Given the description of an element on the screen output the (x, y) to click on. 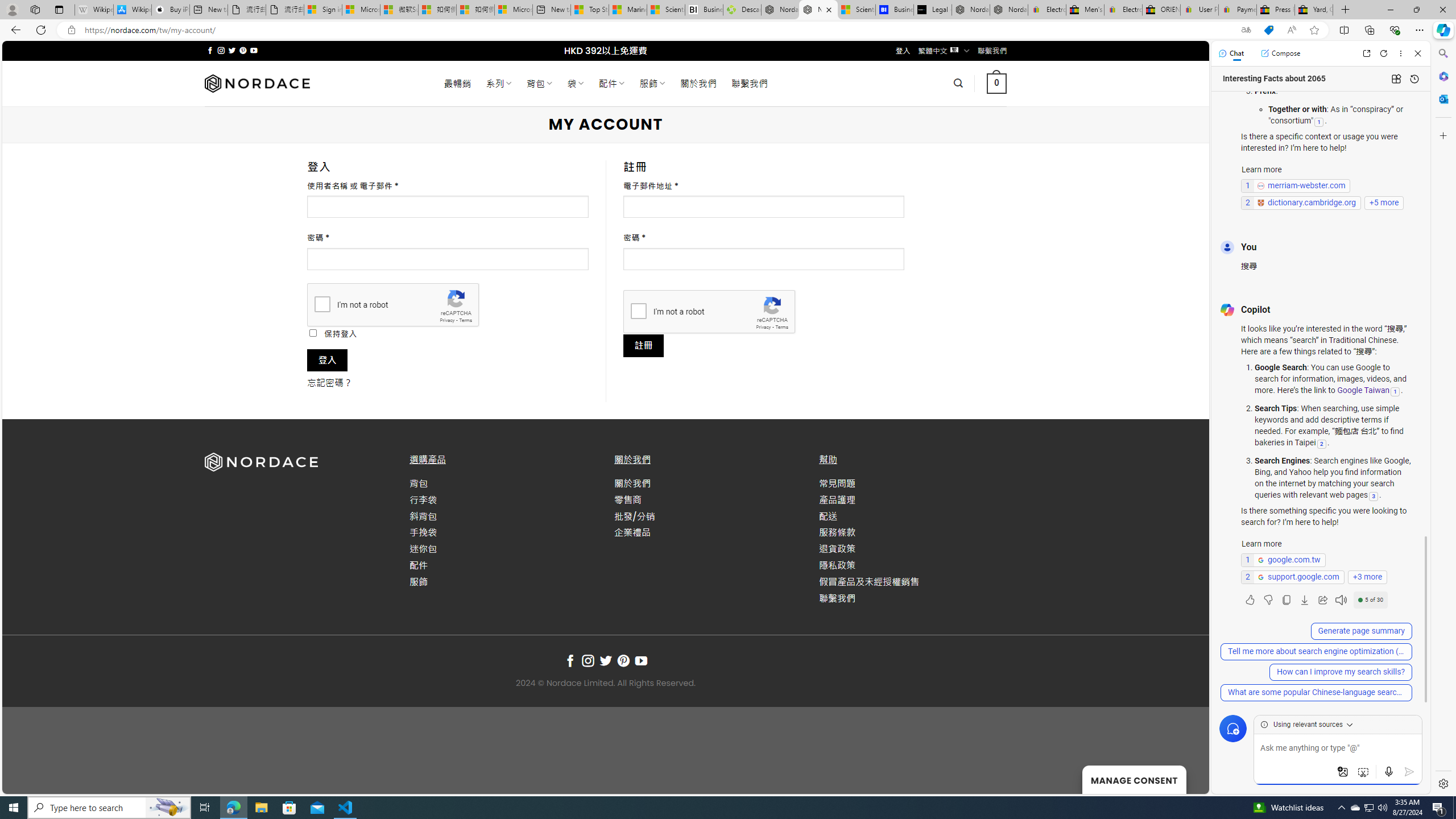
Follow on Twitter (605, 660)
